Given the description of an element on the screen output the (x, y) to click on. 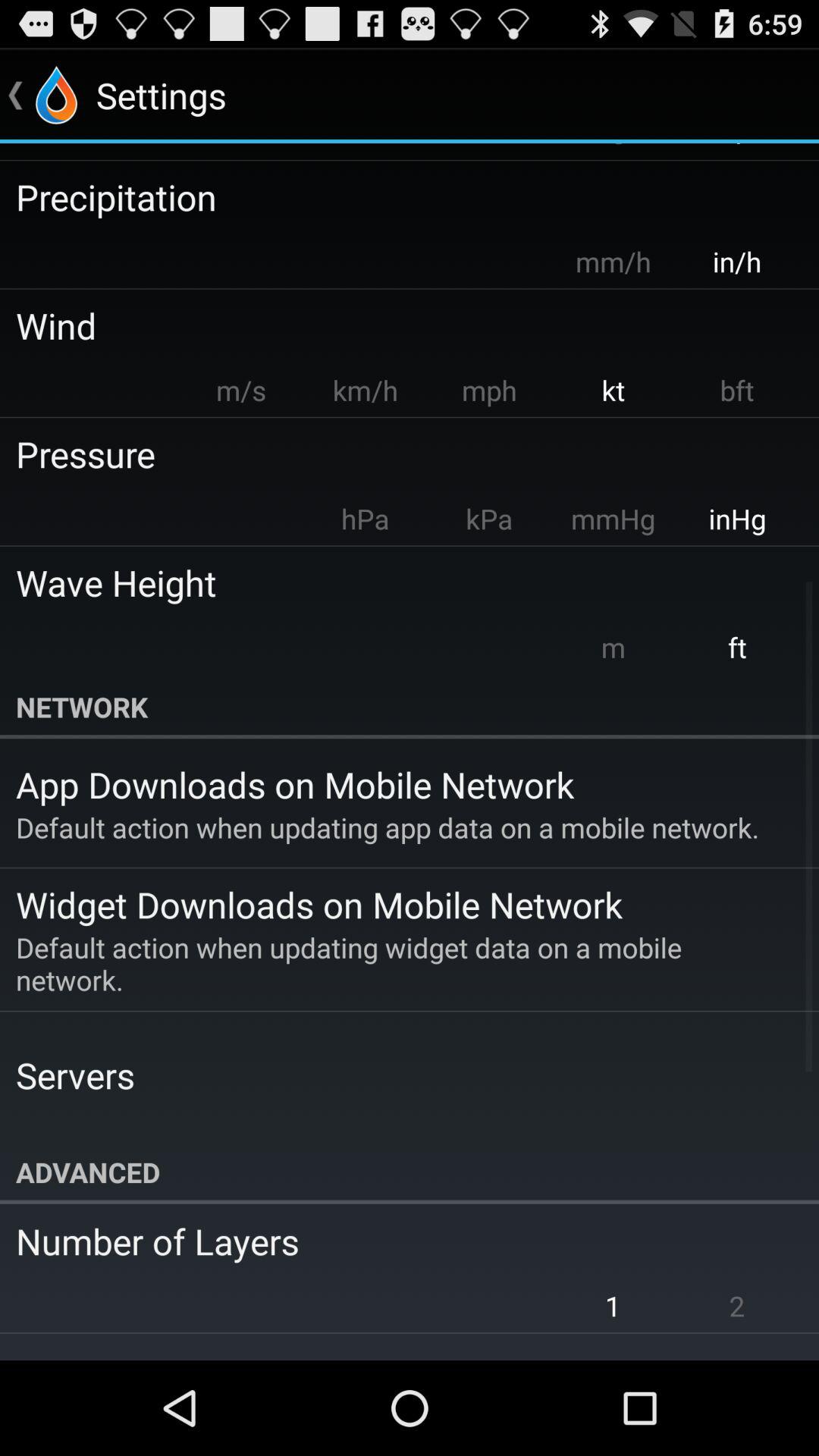
choose app above advanced icon (74, 1075)
